Given the description of an element on the screen output the (x, y) to click on. 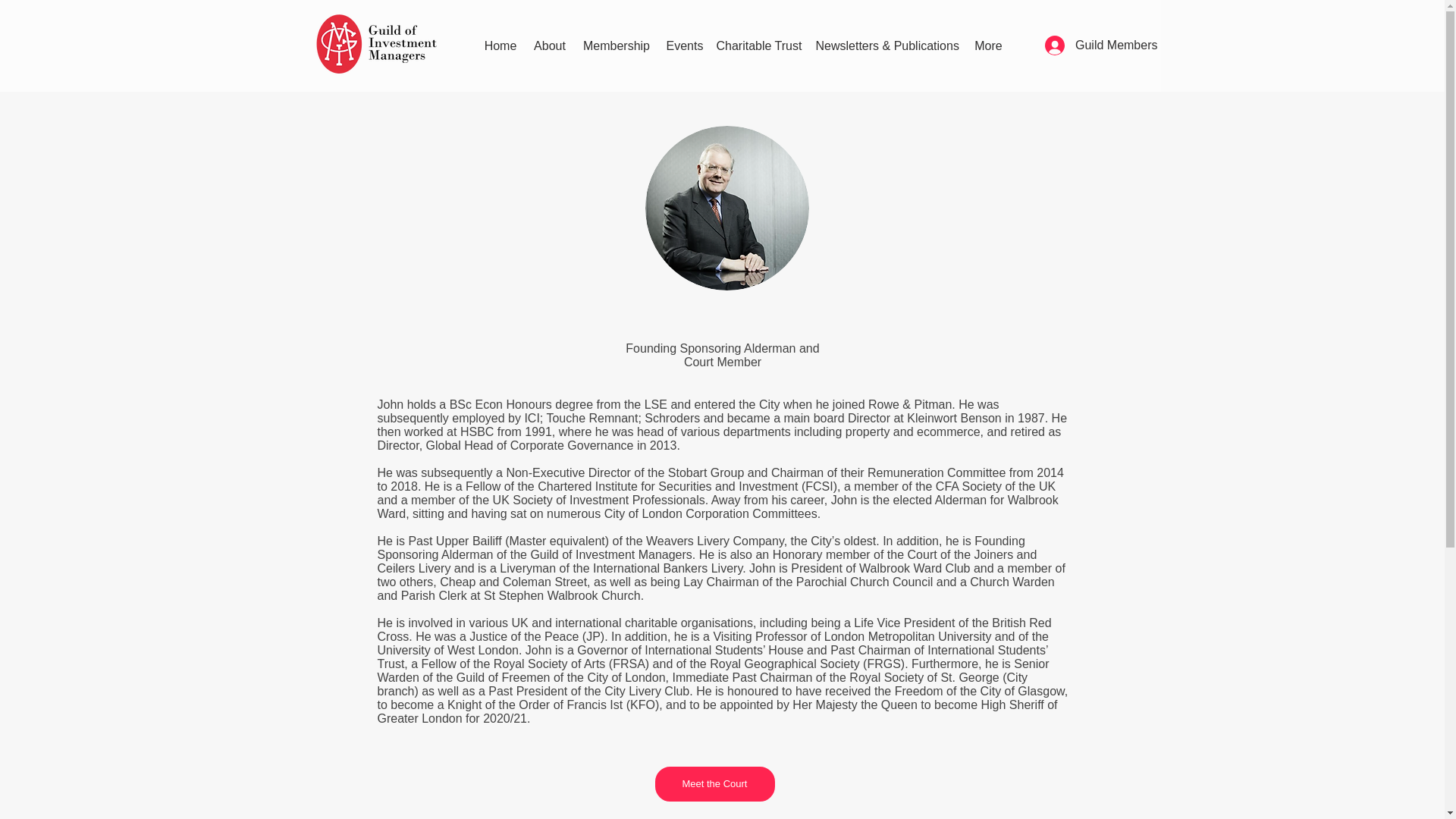
guy2.jpg (726, 208)
Events (682, 46)
Meet the Court (714, 783)
Charitable Trust (757, 46)
Membership (617, 46)
About (548, 46)
Guild Members (1100, 45)
Home (500, 46)
